Given the description of an element on the screen output the (x, y) to click on. 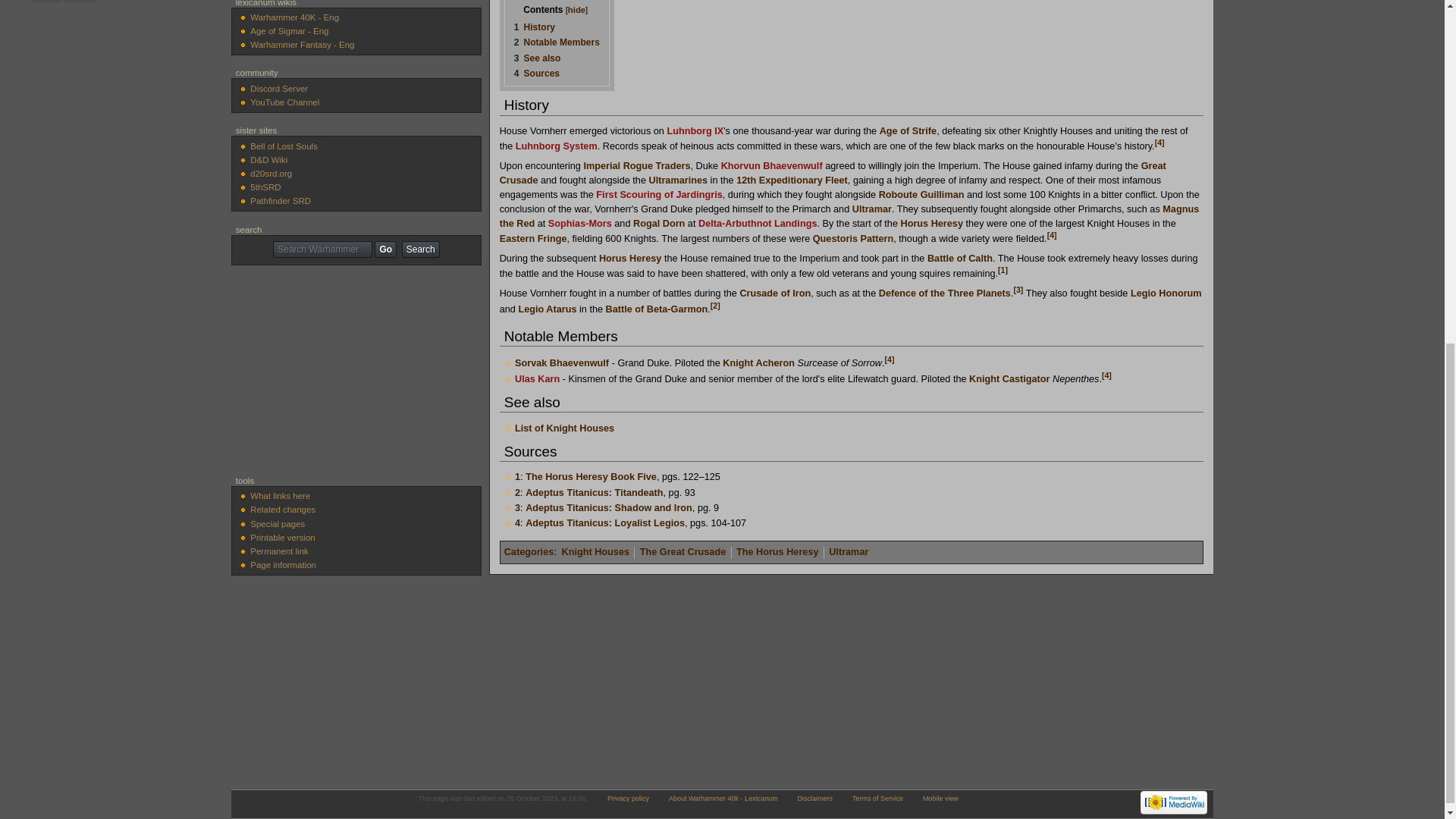
Rogue Trader (656, 165)
1 History (533, 27)
Search (420, 248)
Search (420, 248)
Delta-Arbuthnot Landings (757, 223)
Ultramar (871, 208)
Go (385, 248)
4 Sources (536, 72)
Horus Heresy (930, 223)
Ultramarines (678, 180)
2 Notable Members (556, 41)
3 See also (536, 58)
Rogue Traders (656, 165)
Luhnborg IX (694, 131)
Roboute Guilliman (921, 194)
